Given the description of an element on the screen output the (x, y) to click on. 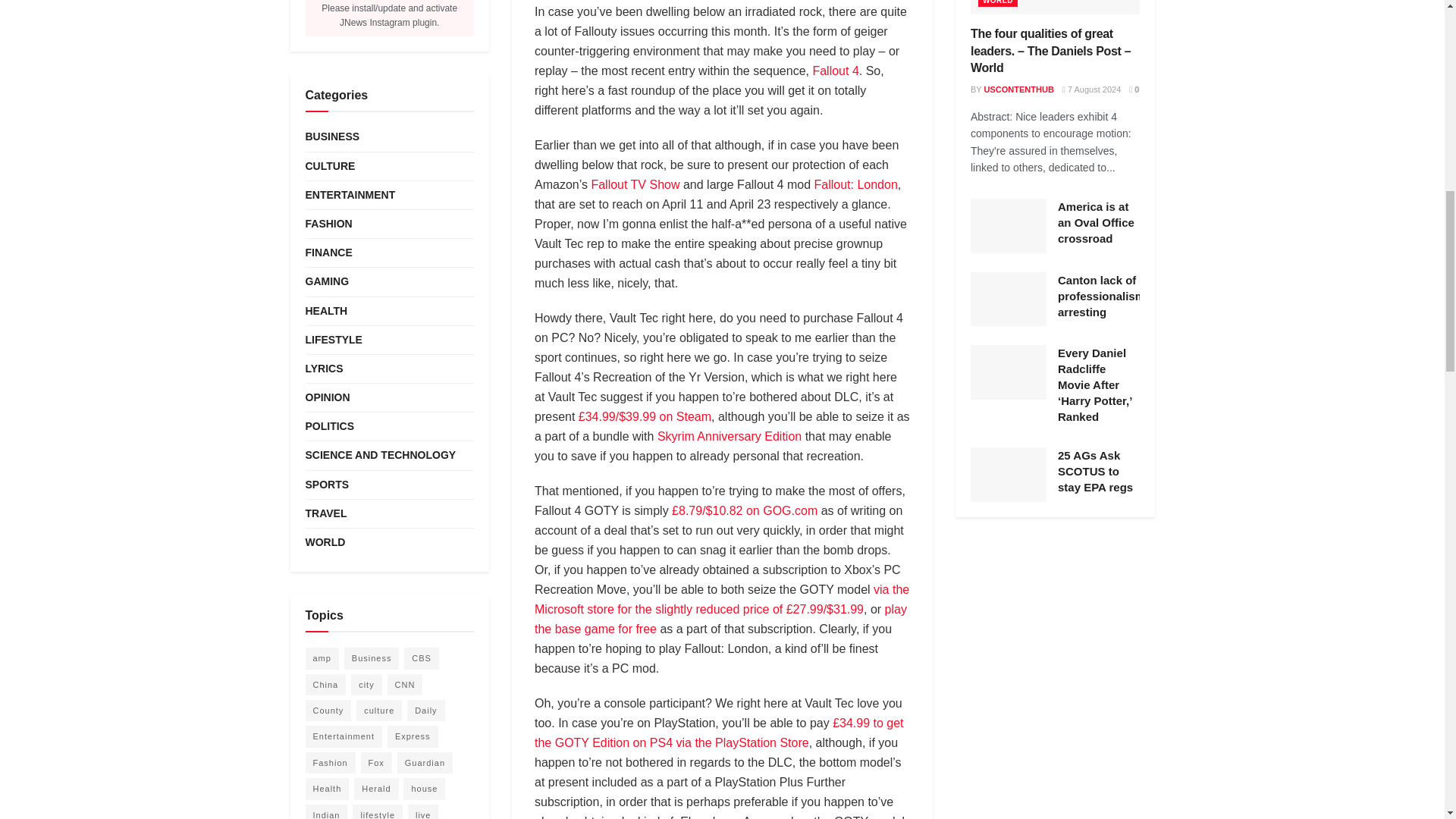
Fallout 4 (835, 70)
Skyrim Anniversary Edition (730, 436)
Fallout TV Show (635, 184)
Fallout: London (855, 184)
